Given the description of an element on the screen output the (x, y) to click on. 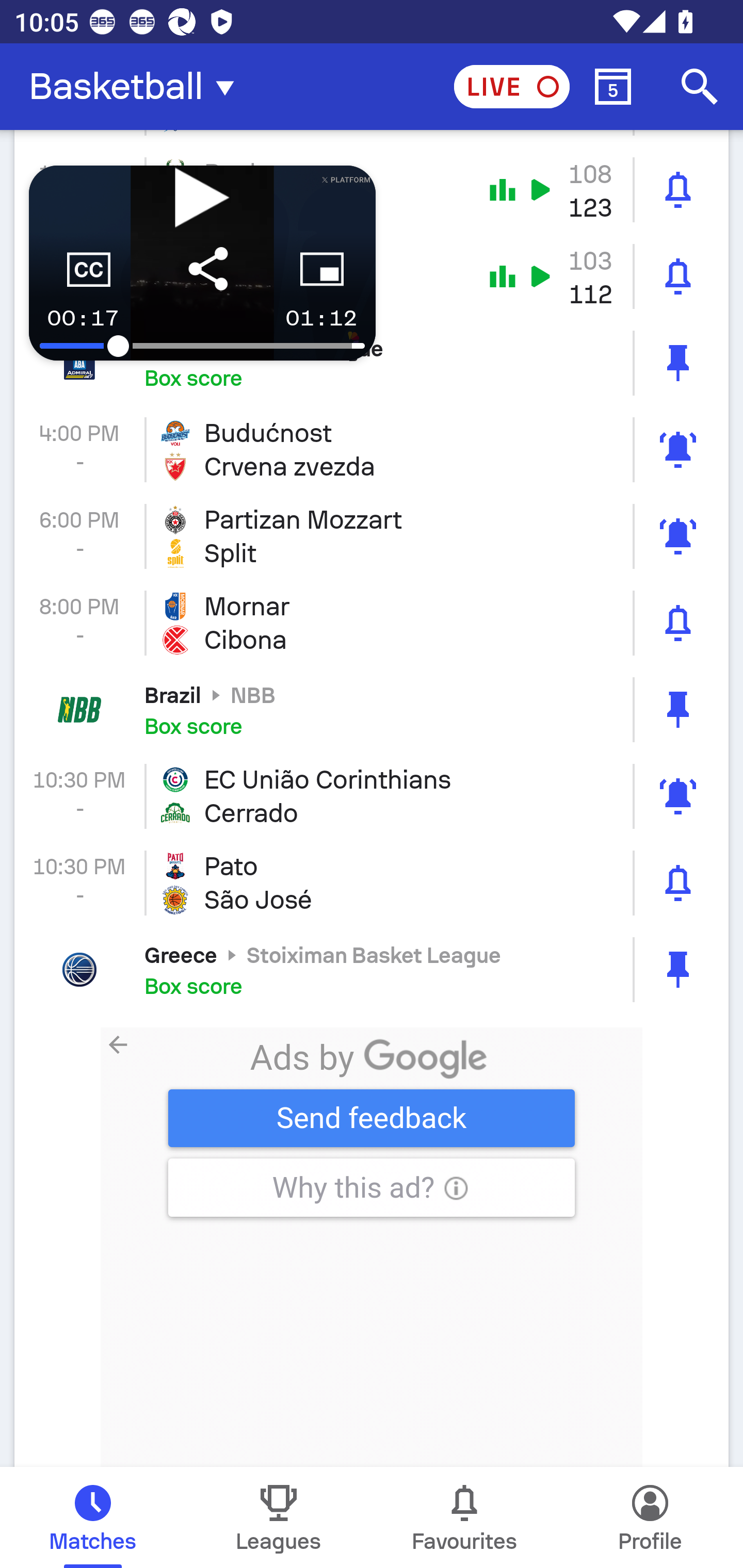
Basketball (137, 86)
Calendar (612, 86)
Search (699, 86)
4:00 PM - Budućnost Crvena zvezda (371, 449)
6:00 PM - Partizan Mozzart Split (371, 536)
8:00 PM - Mornar Cibona (371, 623)
Brazil NBB Box score (371, 709)
10:30 PM - EC União Corinthians Cerrado (371, 796)
10:30 PM - Pato São José (371, 883)
Greece Stoiximan Basket League Box score (371, 969)
Leagues (278, 1517)
Favourites (464, 1517)
Profile (650, 1517)
